Given the description of an element on the screen output the (x, y) to click on. 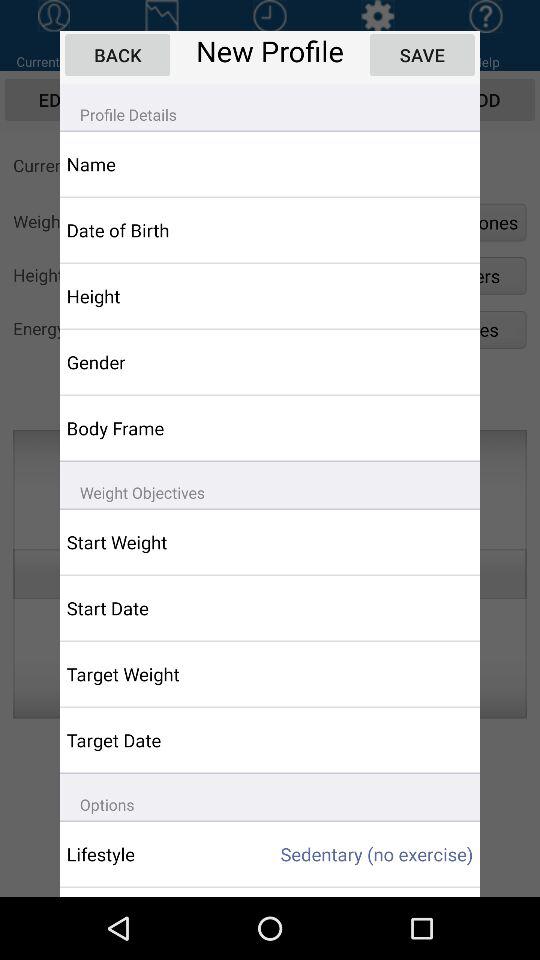
scroll to the name item (156, 163)
